Given the description of an element on the screen output the (x, y) to click on. 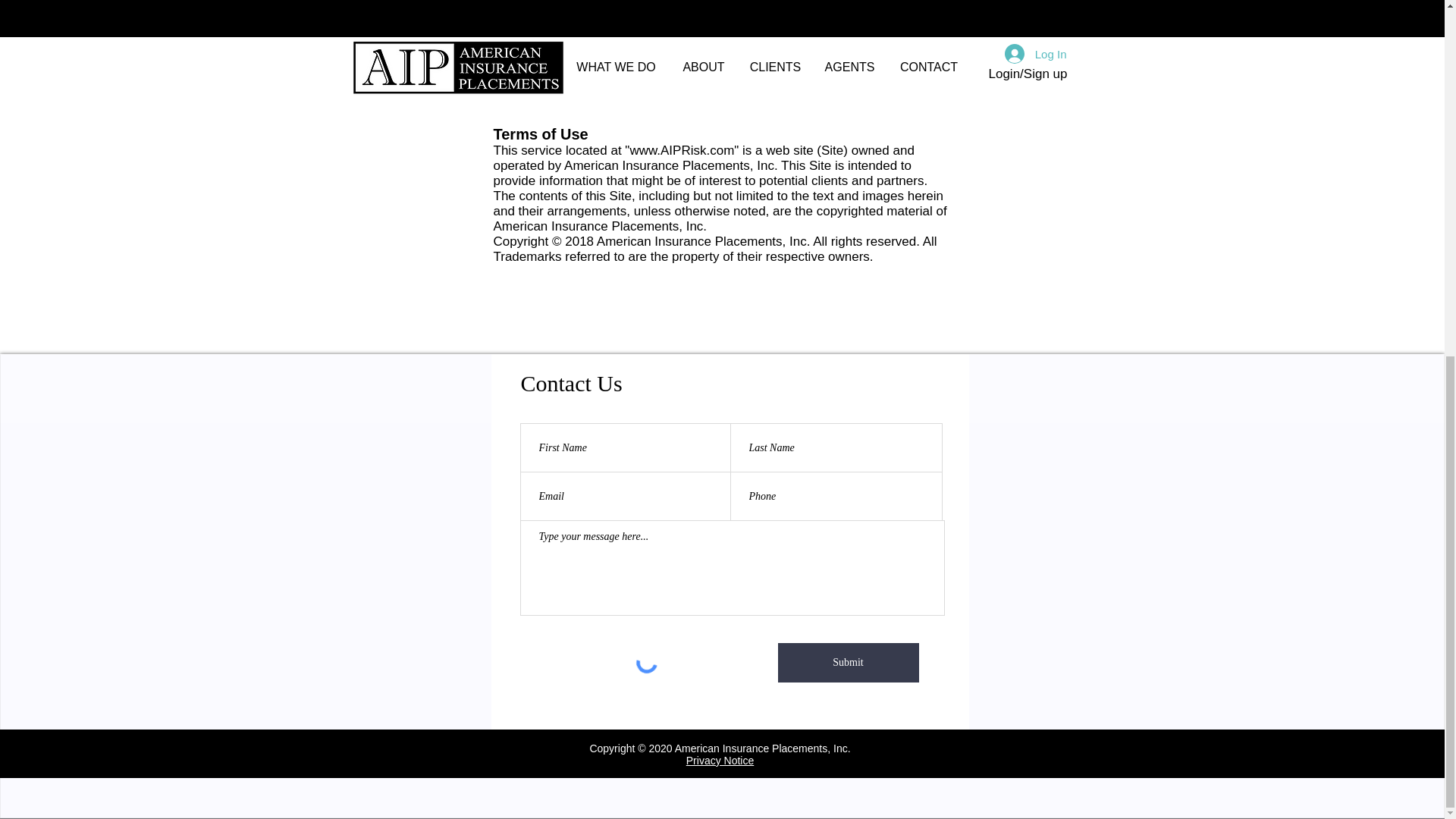
www.AIPRisk.com (680, 150)
Submit (847, 662)
Privacy Notice (719, 760)
